Given the description of an element on the screen output the (x, y) to click on. 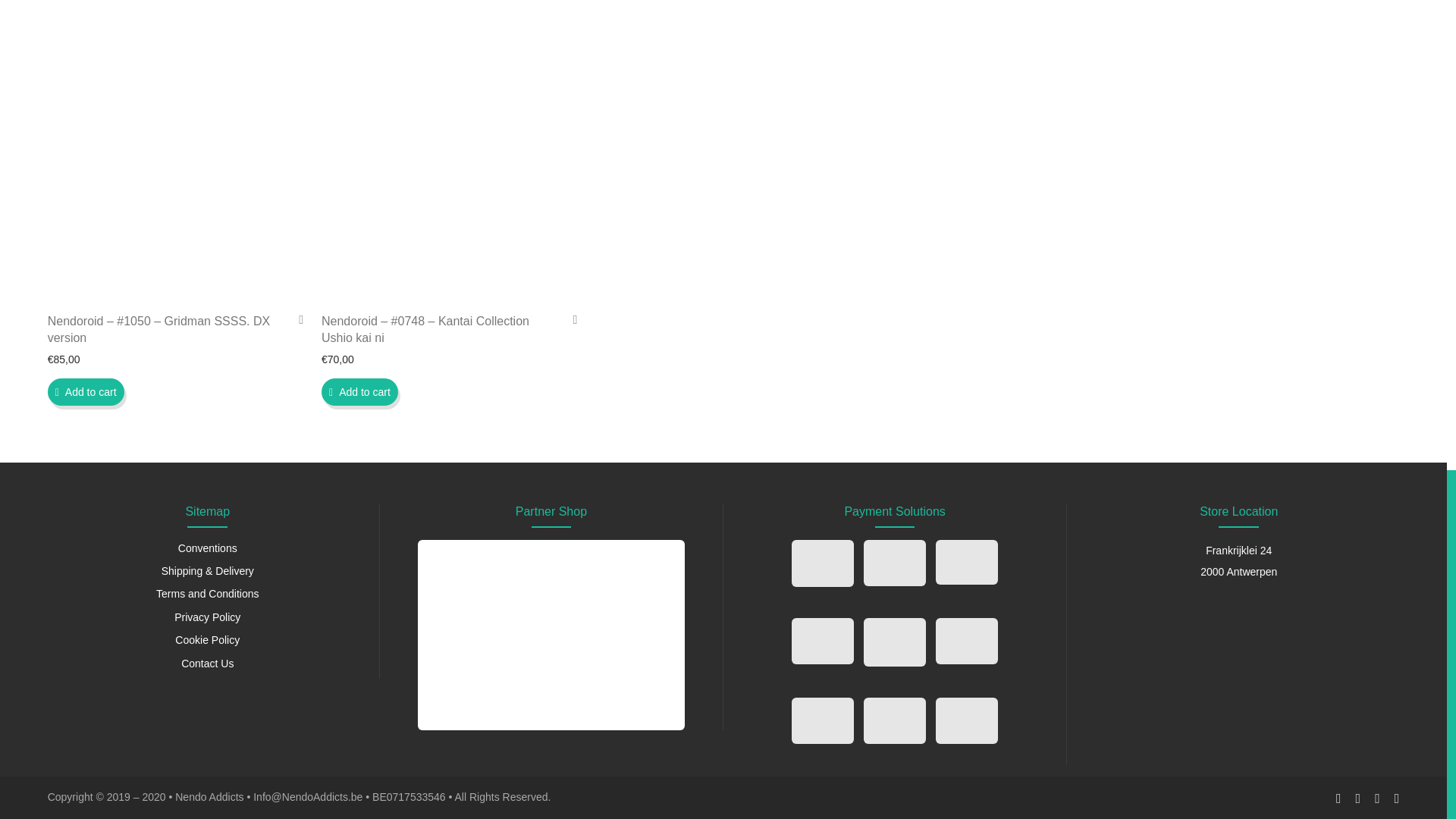
Add to Wishlist (295, 318)
Add to Wishlist (569, 318)
